Given the description of an element on the screen output the (x, y) to click on. 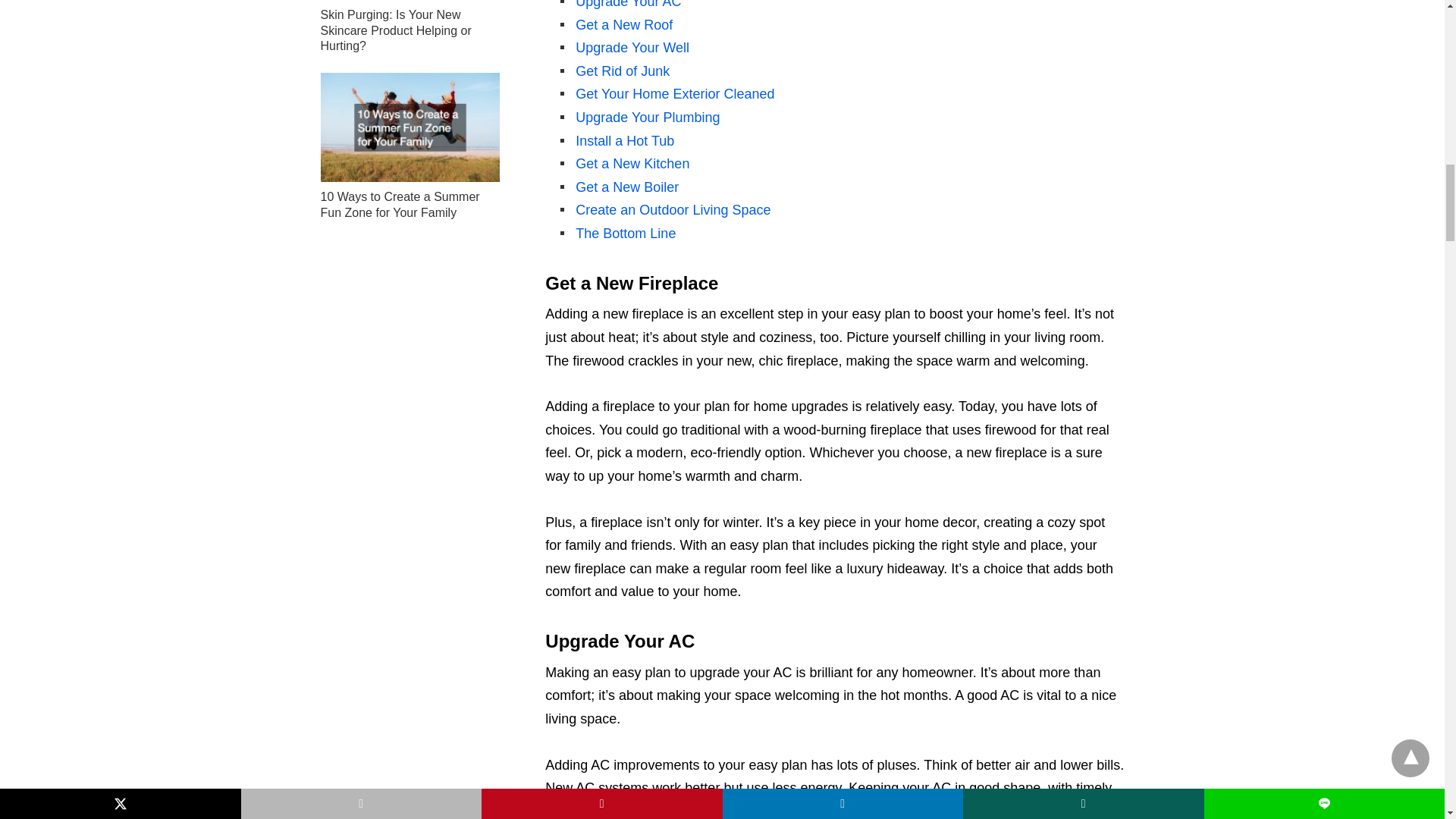
Create an Outdoor Living Space (672, 209)
Get Your Home Exterior Cleaned (674, 93)
Get a New Kitchen (631, 163)
Get a New Roof (623, 24)
The Bottom Line (625, 233)
Upgrade Your Well (631, 47)
Install a Hot Tub (624, 140)
Get Rid of Junk (622, 70)
10 Ways to Create a Summer Fun Zone for Your Family (409, 126)
Get a New Boiler (626, 186)
Upgrade Your AC (628, 4)
10 Ways to Create a Summer Fun Zone for Your Family (399, 204)
Upgrade Your Plumbing (647, 117)
